Given the description of an element on the screen output the (x, y) to click on. 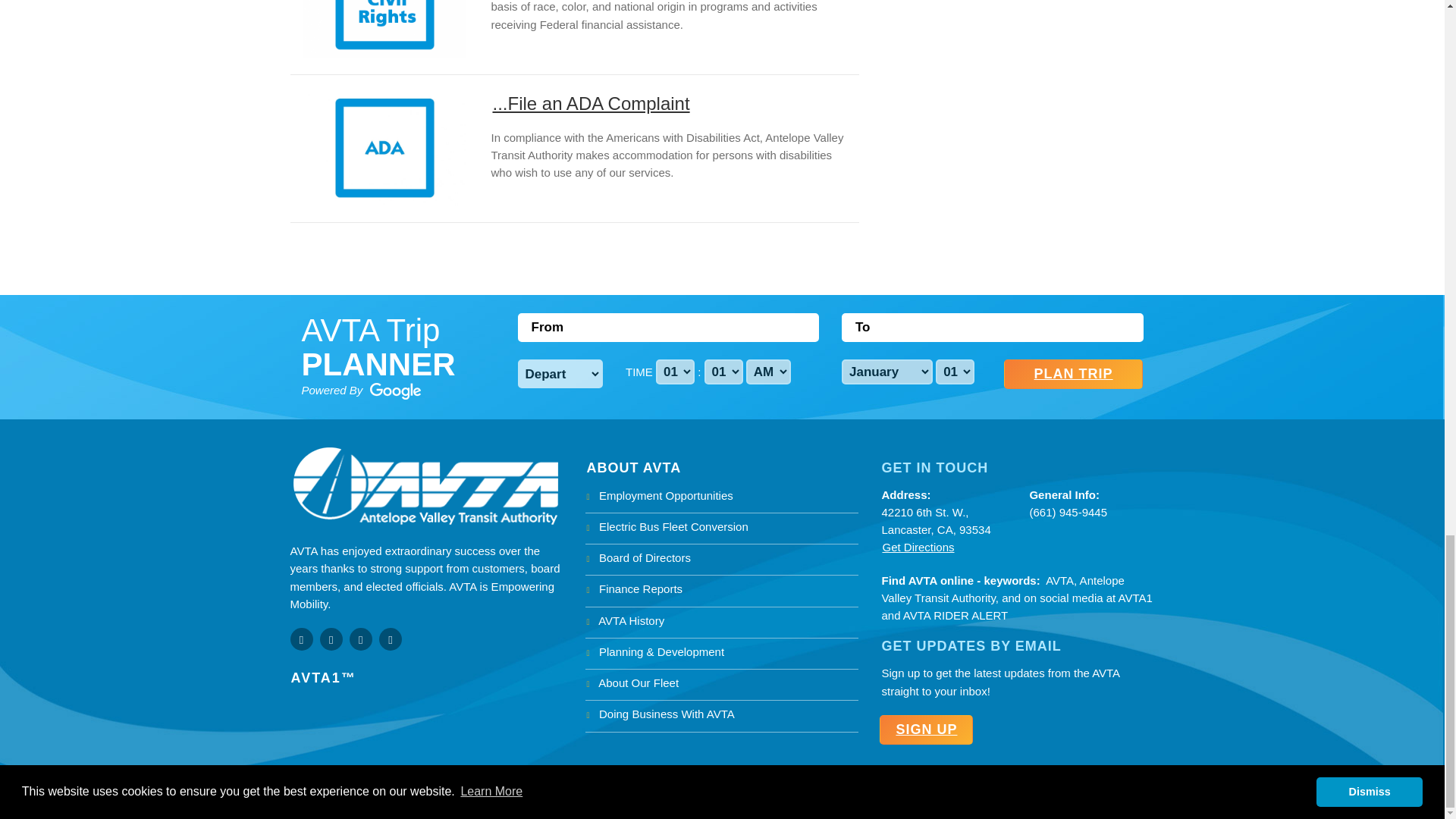
Plan Trip (1073, 374)
